Given the description of an element on the screen output the (x, y) to click on. 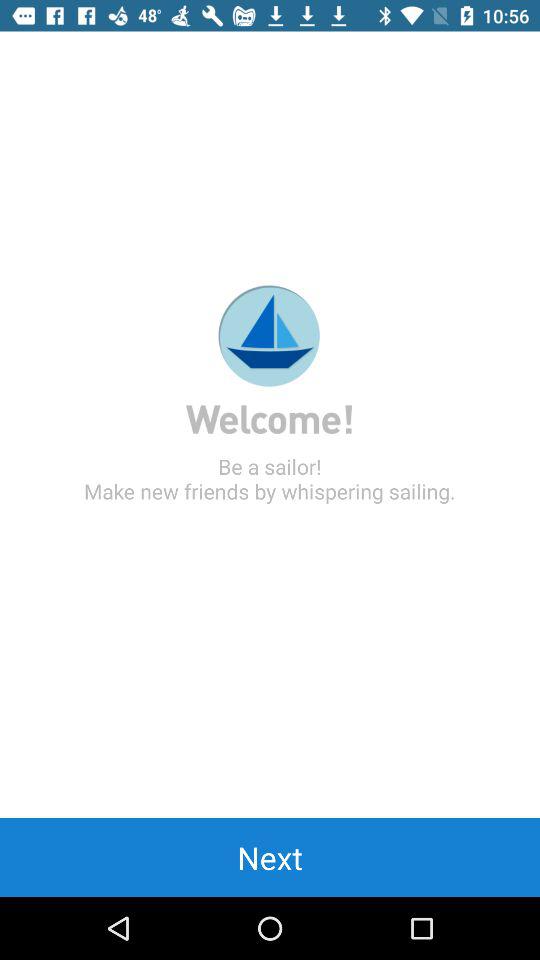
scroll to next icon (270, 857)
